Given the description of an element on the screen output the (x, y) to click on. 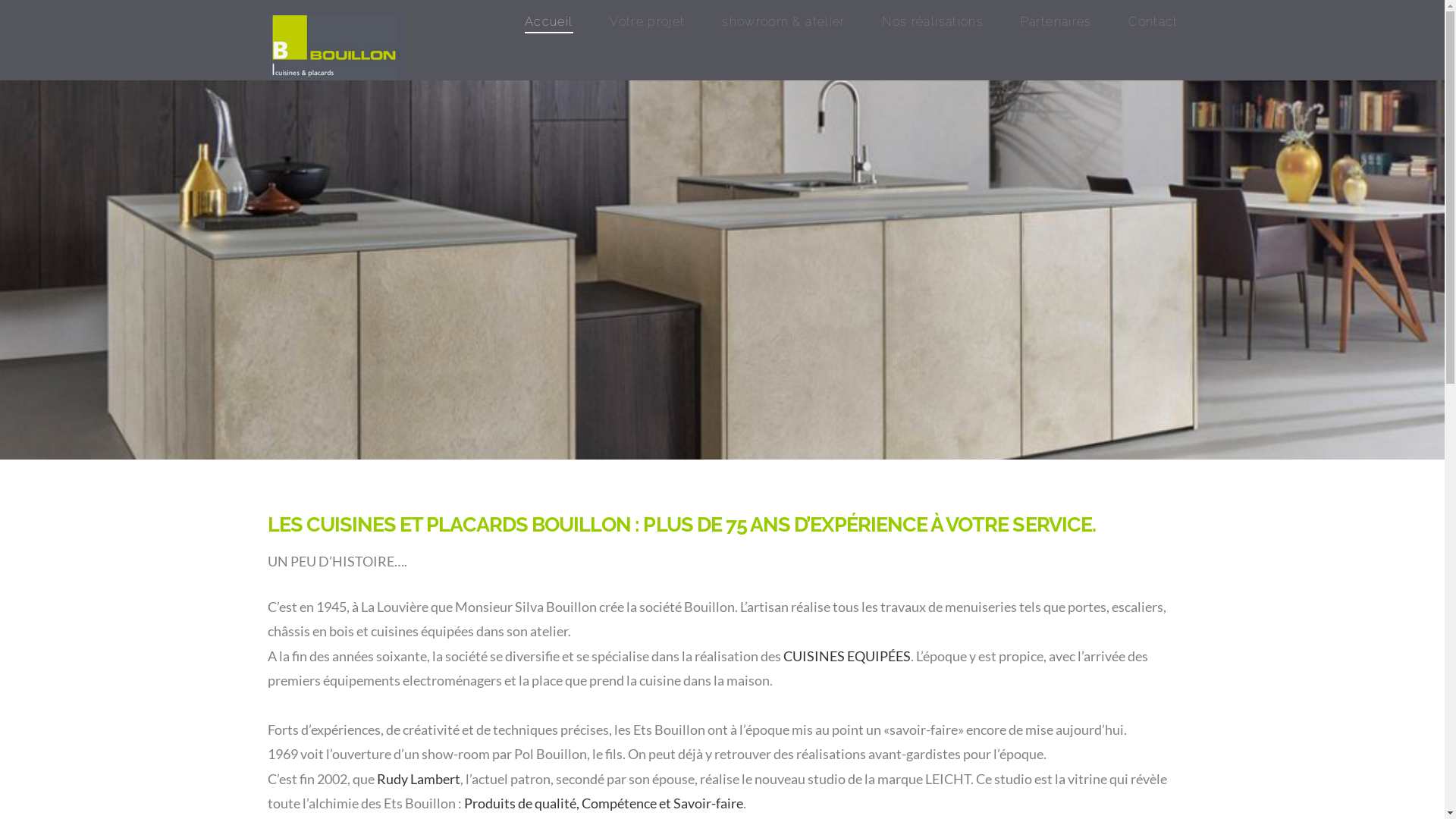
Contact Element type: text (1142, 30)
Partenaires Element type: text (1055, 30)
Votre projet Element type: text (646, 30)
showroom & atelier Element type: text (782, 30)
Accueil Element type: text (547, 30)
